Given the description of an element on the screen output the (x, y) to click on. 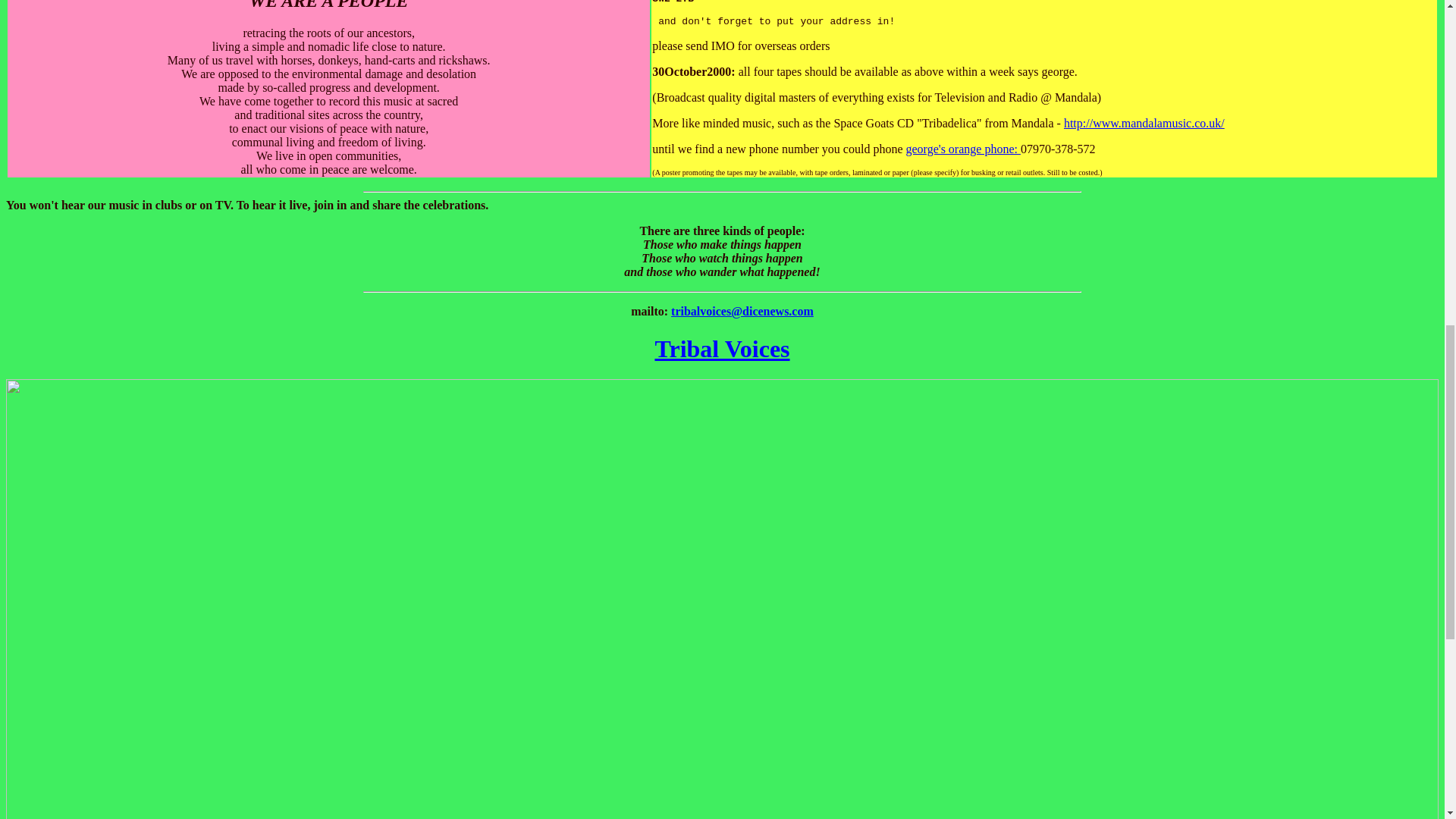
Tribal Voices (721, 348)
george's orange phone: (962, 148)
You won't hear our music in clubs or on TV. (118, 205)
